Given the description of an element on the screen output the (x, y) to click on. 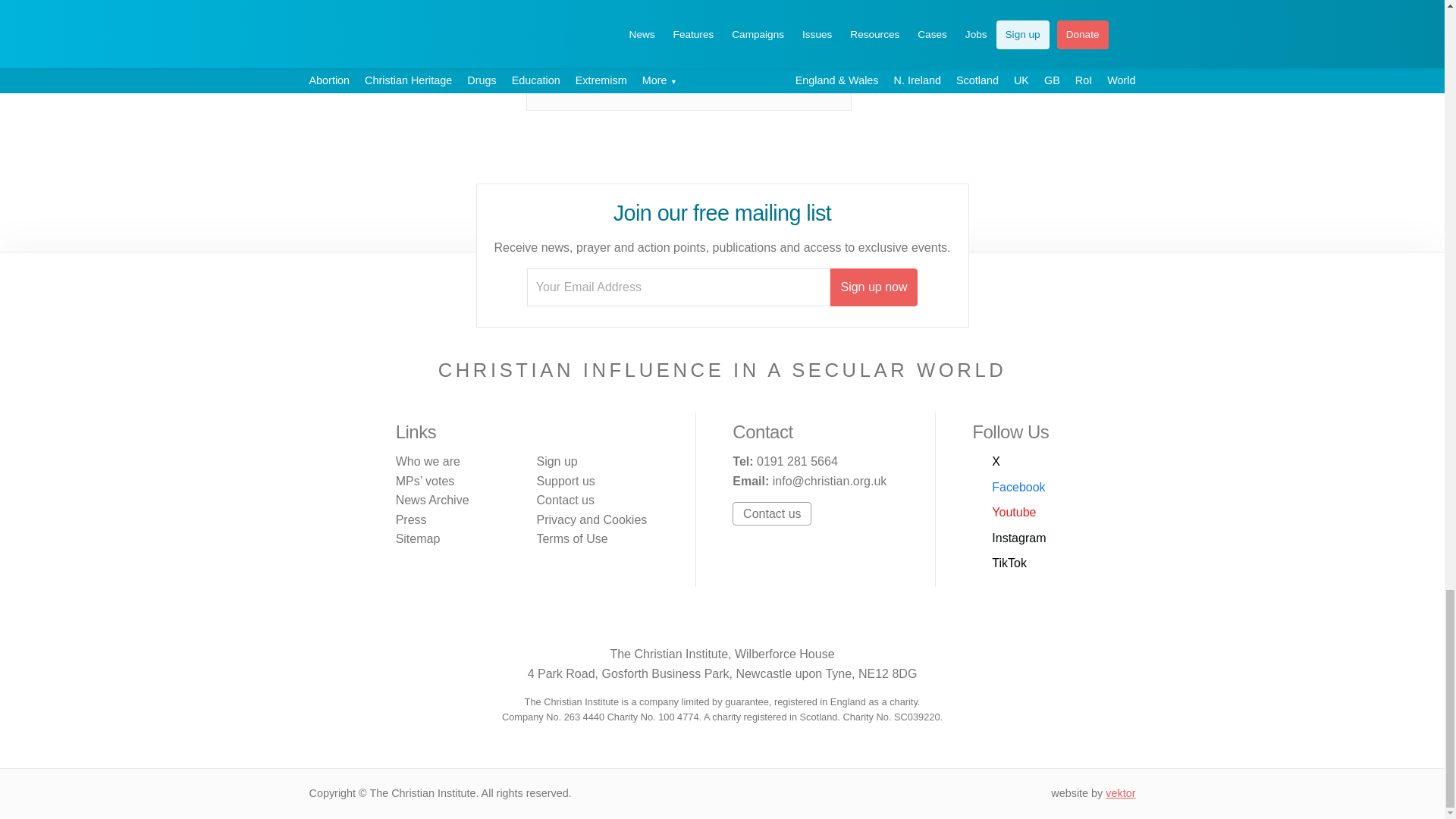
Visit our Twitter page (986, 461)
Visit our Twitter page (641, 621)
Visit our Facebook page (673, 621)
View our RSS News feeds (802, 621)
Visit our YouTube channel (705, 621)
Visit our TikTok feed (769, 621)
Visit our TikTok feed (999, 563)
Visit our Instagram page (1008, 537)
Visit our Facebook page (1008, 487)
Visit our YouTube channel (1003, 512)
